Given the description of an element on the screen output the (x, y) to click on. 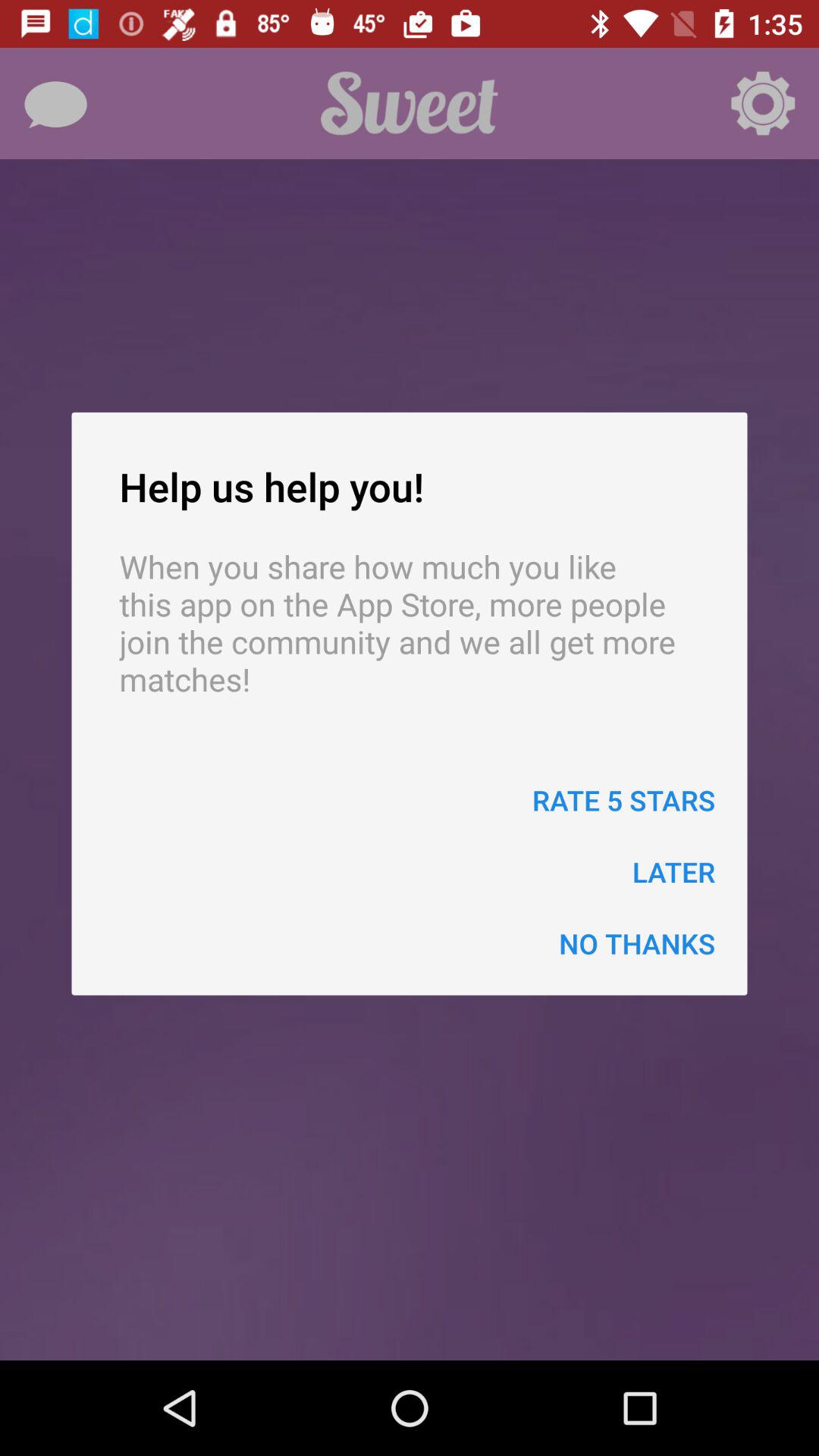
turn on later icon (673, 871)
